Given the description of an element on the screen output the (x, y) to click on. 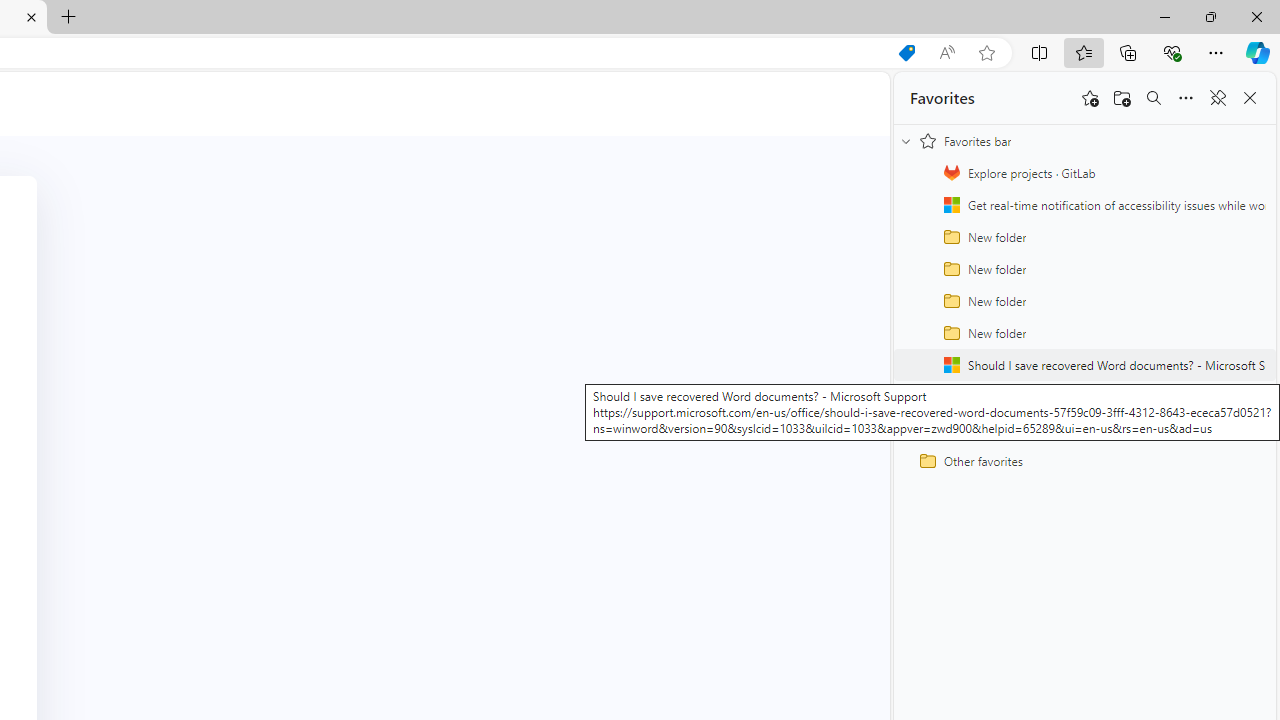
Add this page to favorites (1089, 98)
Close favorites (1250, 98)
Add folder (1122, 98)
